Given the description of an element on the screen output the (x, y) to click on. 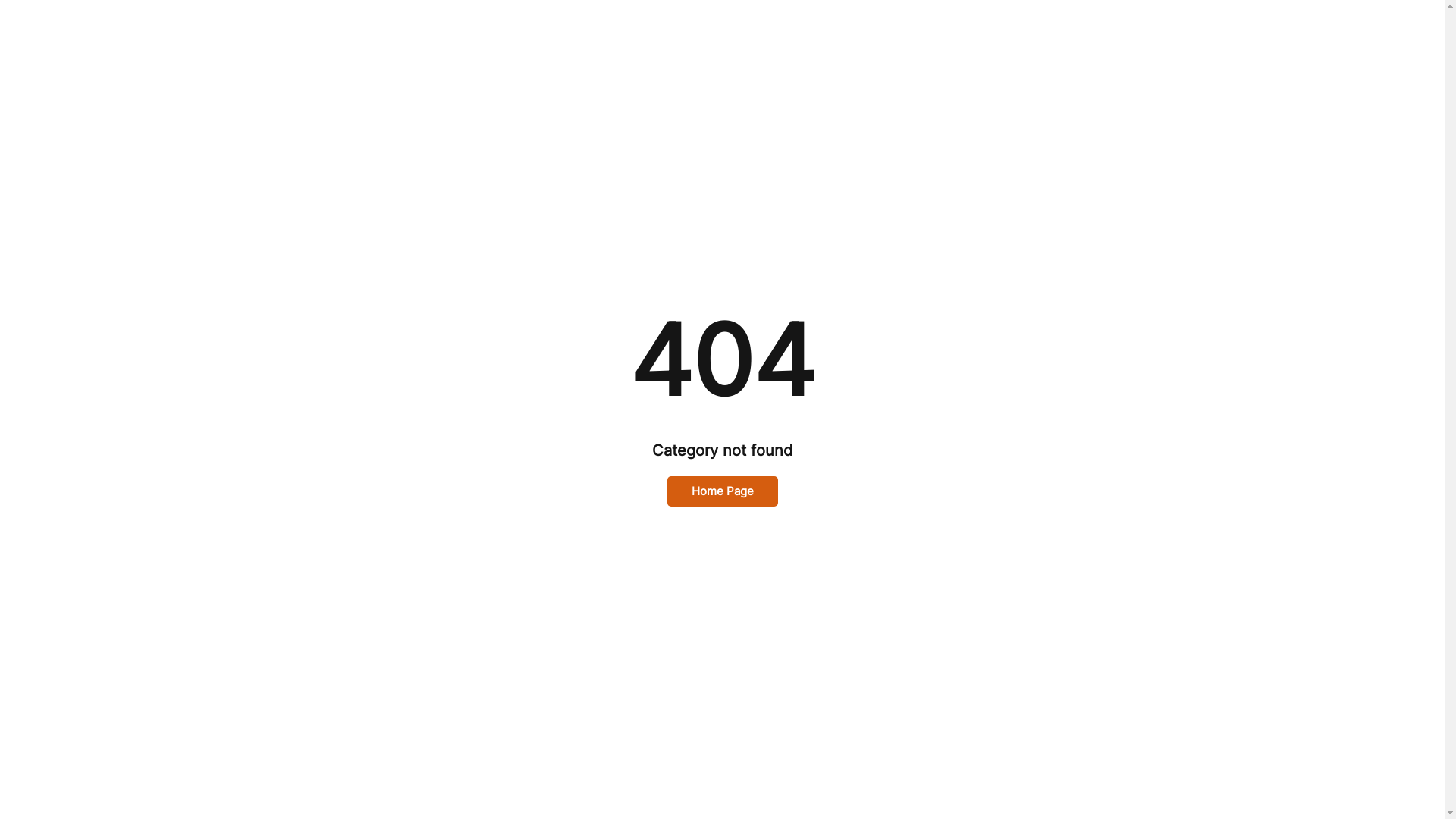
Home Page Element type: text (722, 491)
